Given the description of an element on the screen output the (x, y) to click on. 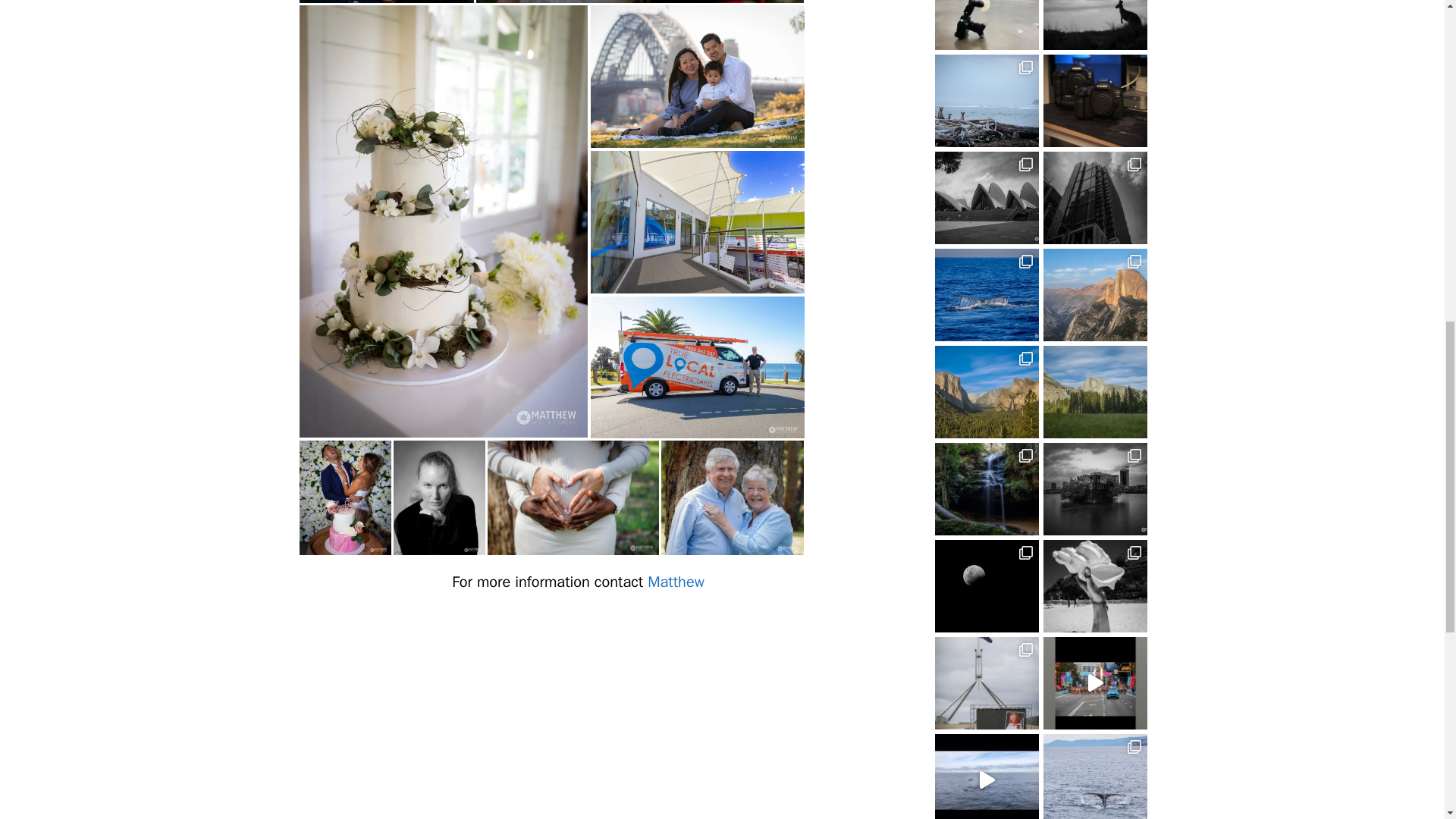
Family Event Photography (385, 1)
Family Portrait Photography (732, 497)
Family Portrait Photography (572, 497)
Family Portrait Photography (696, 76)
Matthew (675, 581)
